Given the description of an element on the screen output the (x, y) to click on. 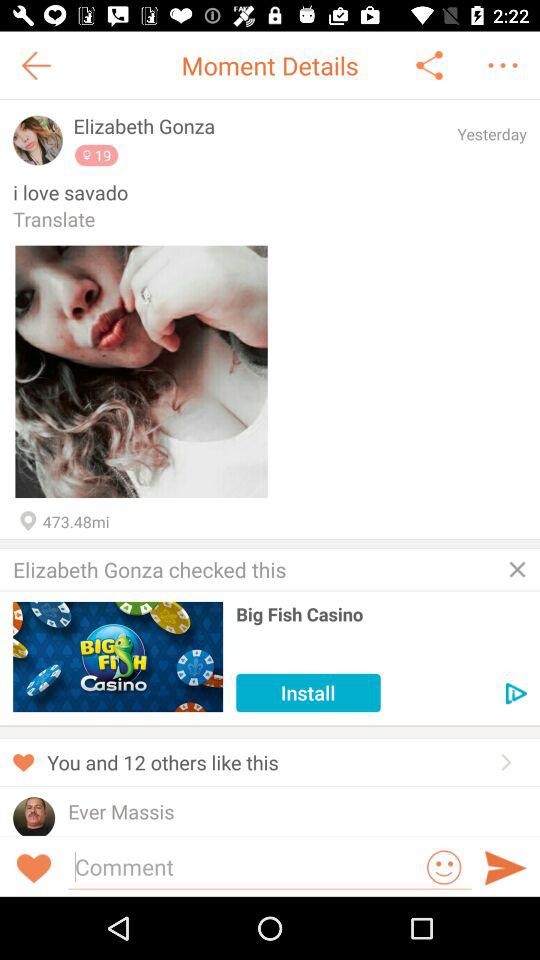
close advertisement (517, 569)
